Given the description of an element on the screen output the (x, y) to click on. 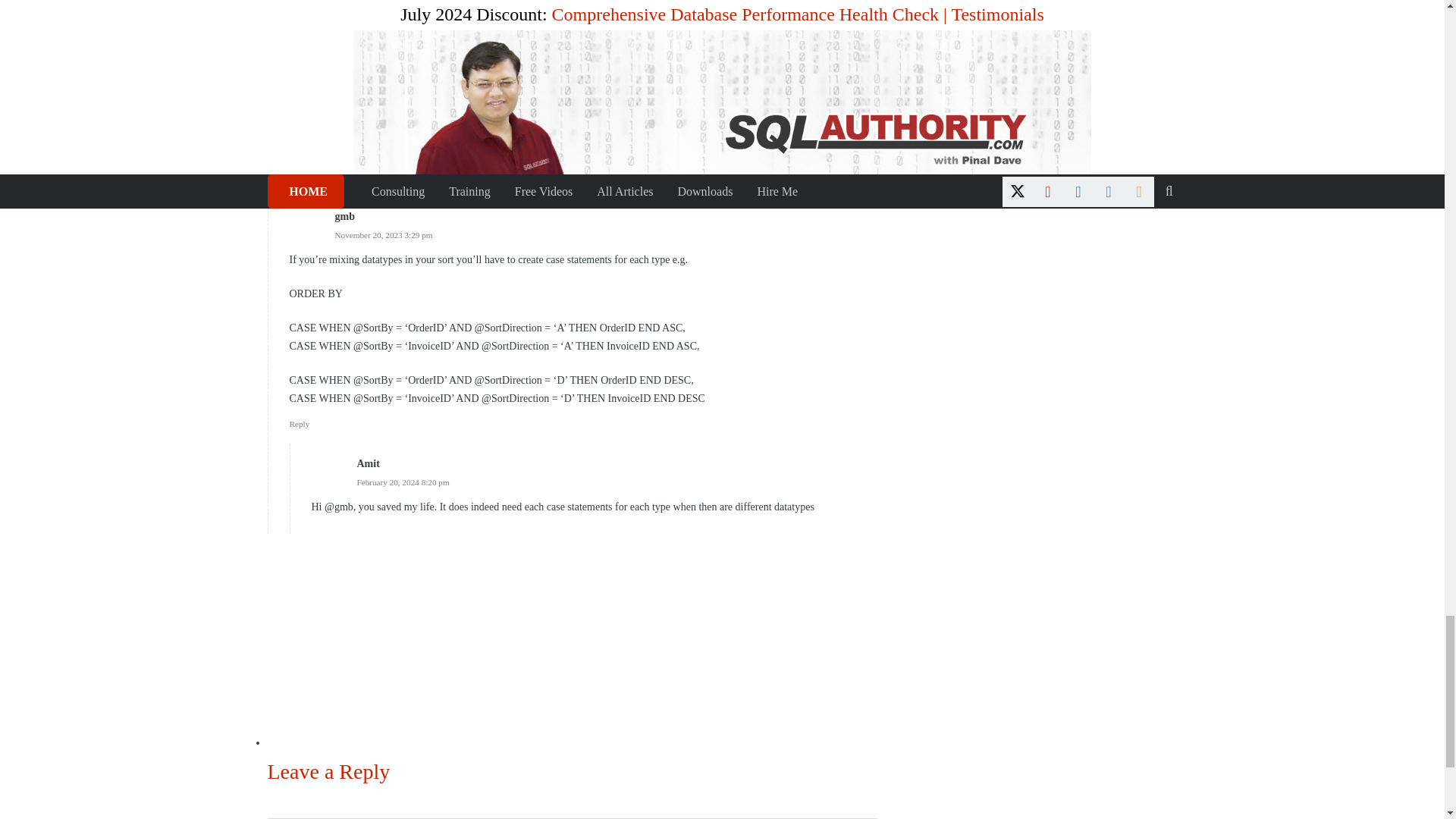
February 20, 2024 8:20 pm (402, 481)
November 20, 2023 3:29 pm (383, 234)
